Given the description of an element on the screen output the (x, y) to click on. 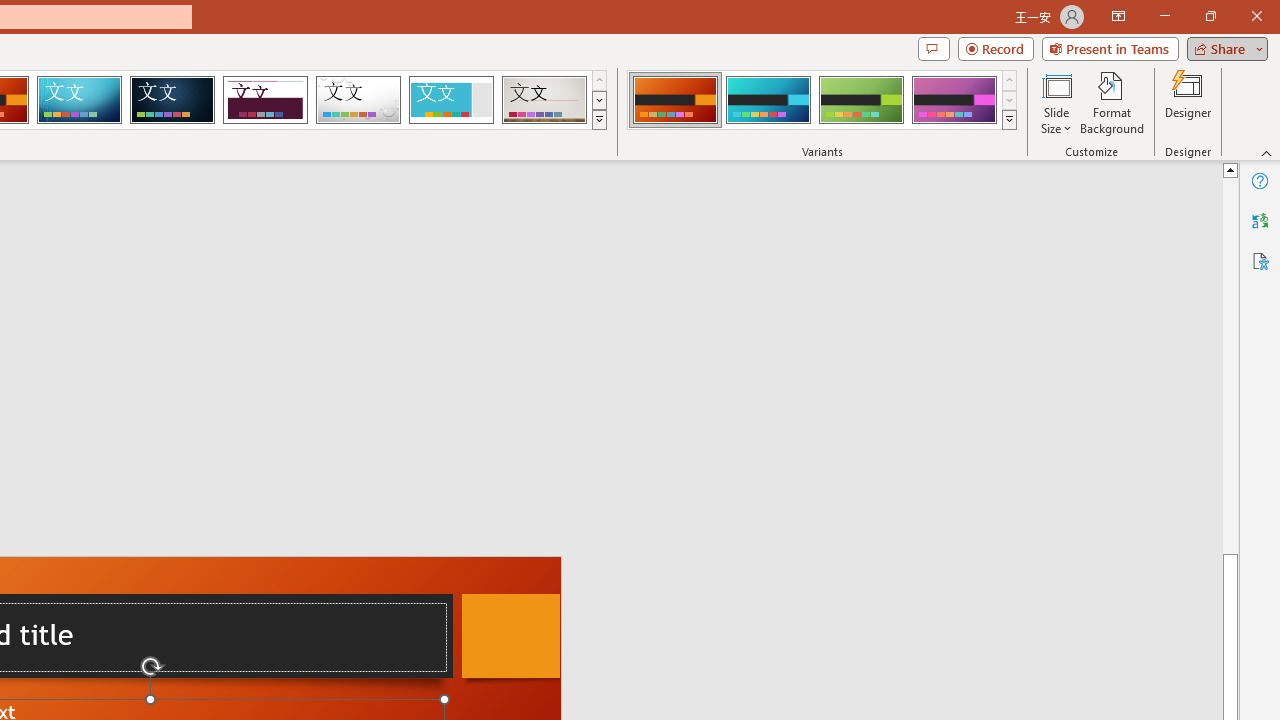
Frame (450, 100)
Circuit (79, 100)
Format Background (1111, 102)
Slide Size (1056, 102)
Dividend (265, 100)
Gallery (544, 100)
Droplet (358, 100)
Variants (1009, 120)
